Given the description of an element on the screen output the (x, y) to click on. 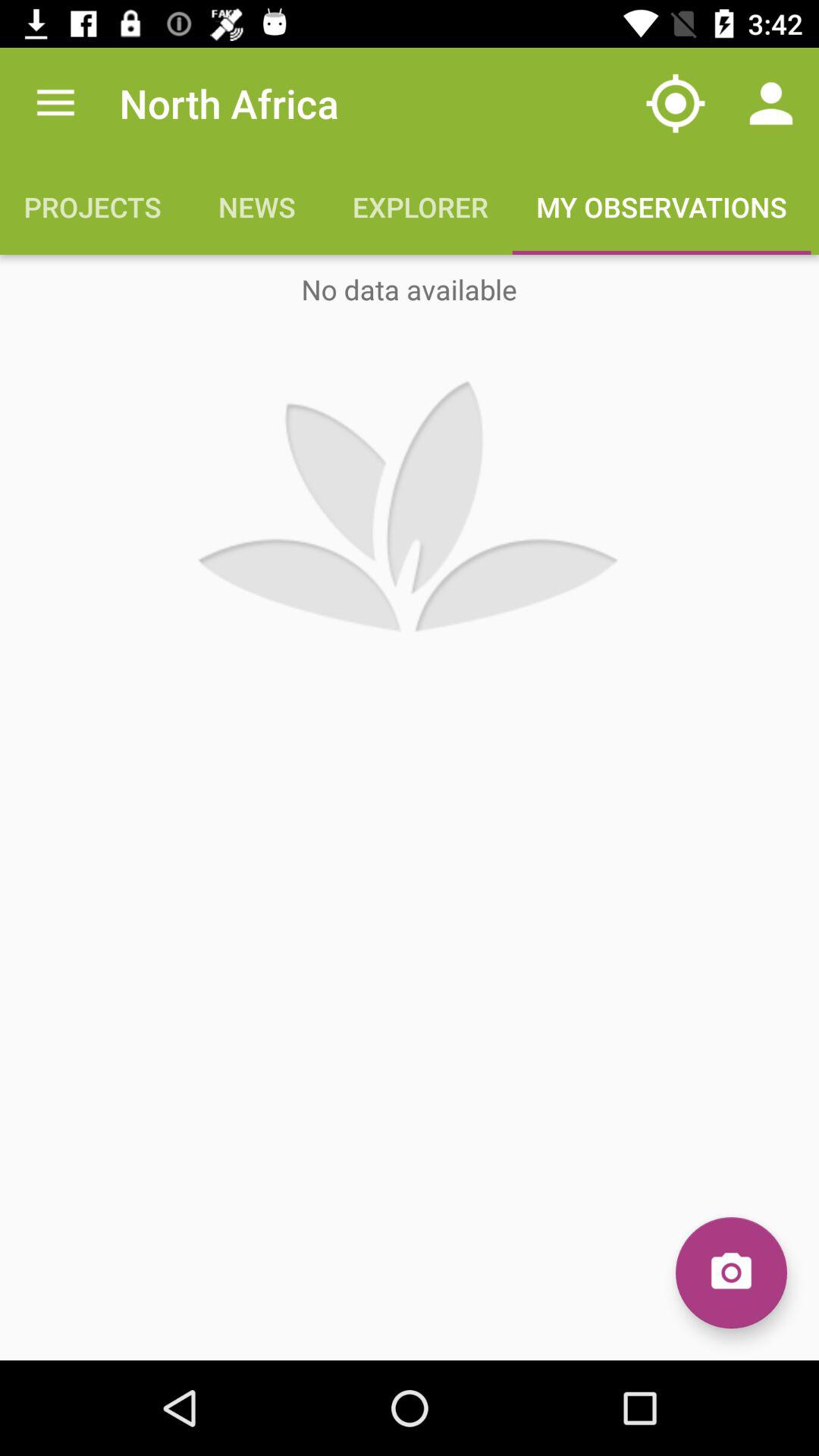
launch the icon next to the north africa icon (675, 103)
